Given the description of an element on the screen output the (x, y) to click on. 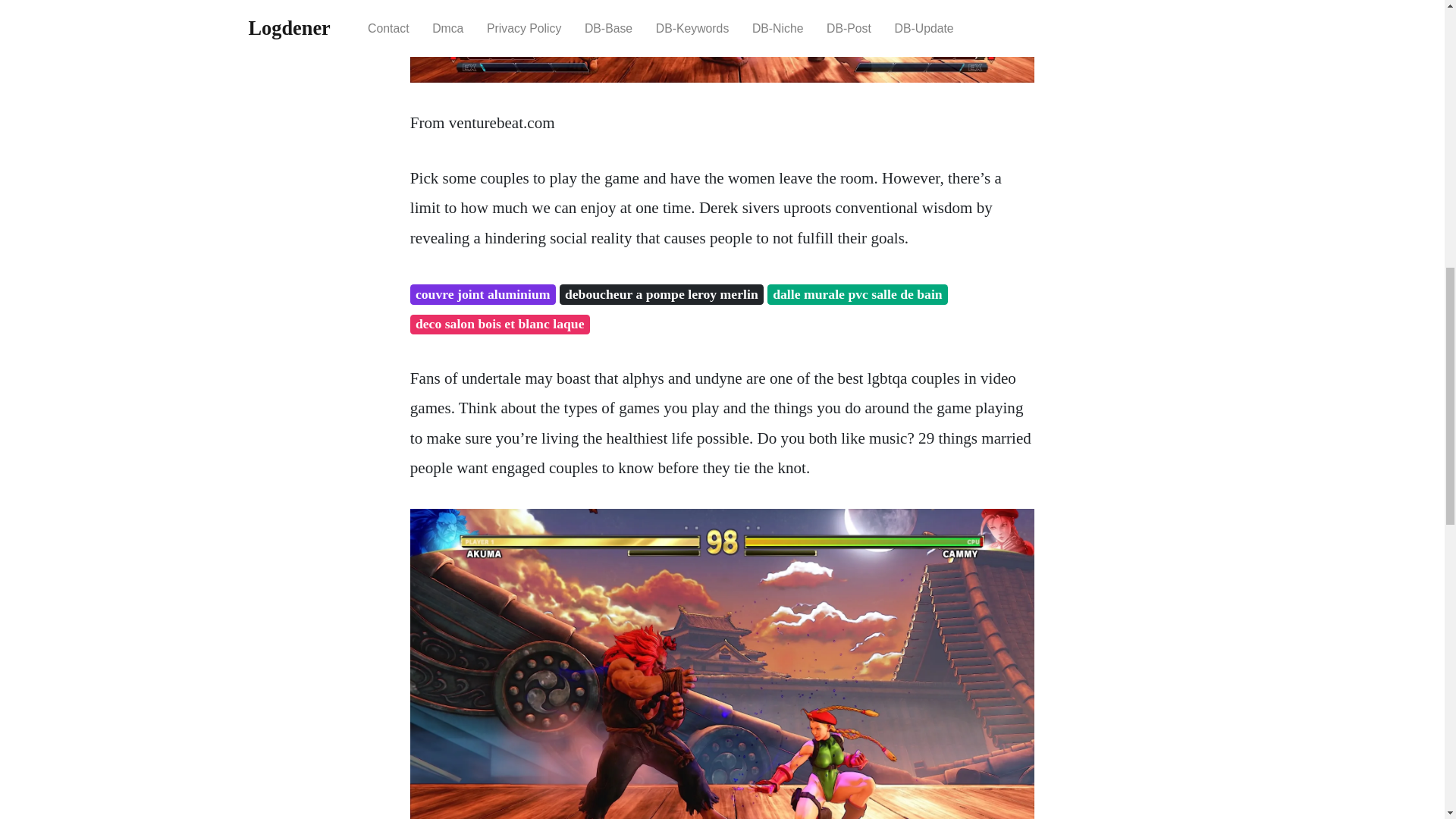
dalle murale pvc salle de bain (857, 294)
couvre joint aluminium (483, 294)
deboucheur a pompe leroy merlin (660, 294)
deco salon bois et blanc laque (499, 324)
